Given the description of an element on the screen output the (x, y) to click on. 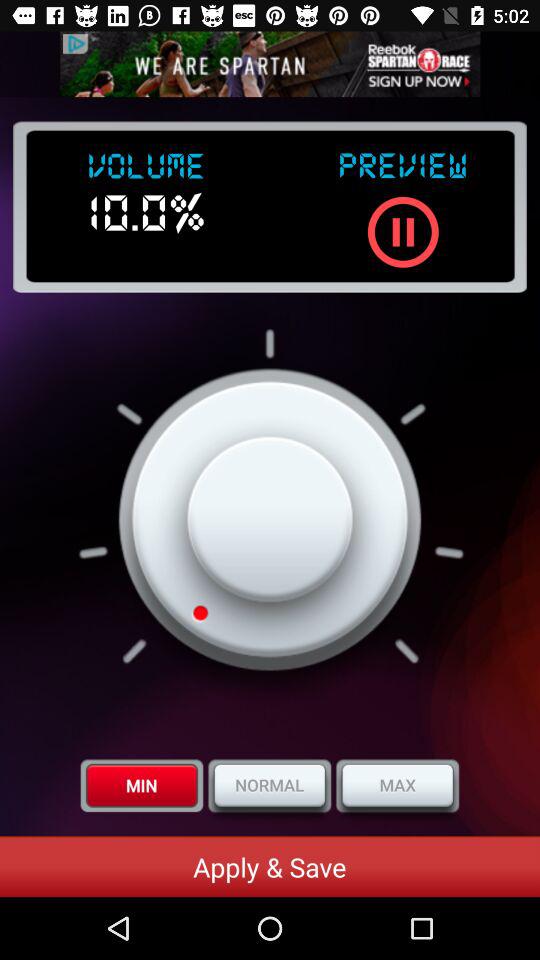
advertisement (270, 64)
